Given the description of an element on the screen output the (x, y) to click on. 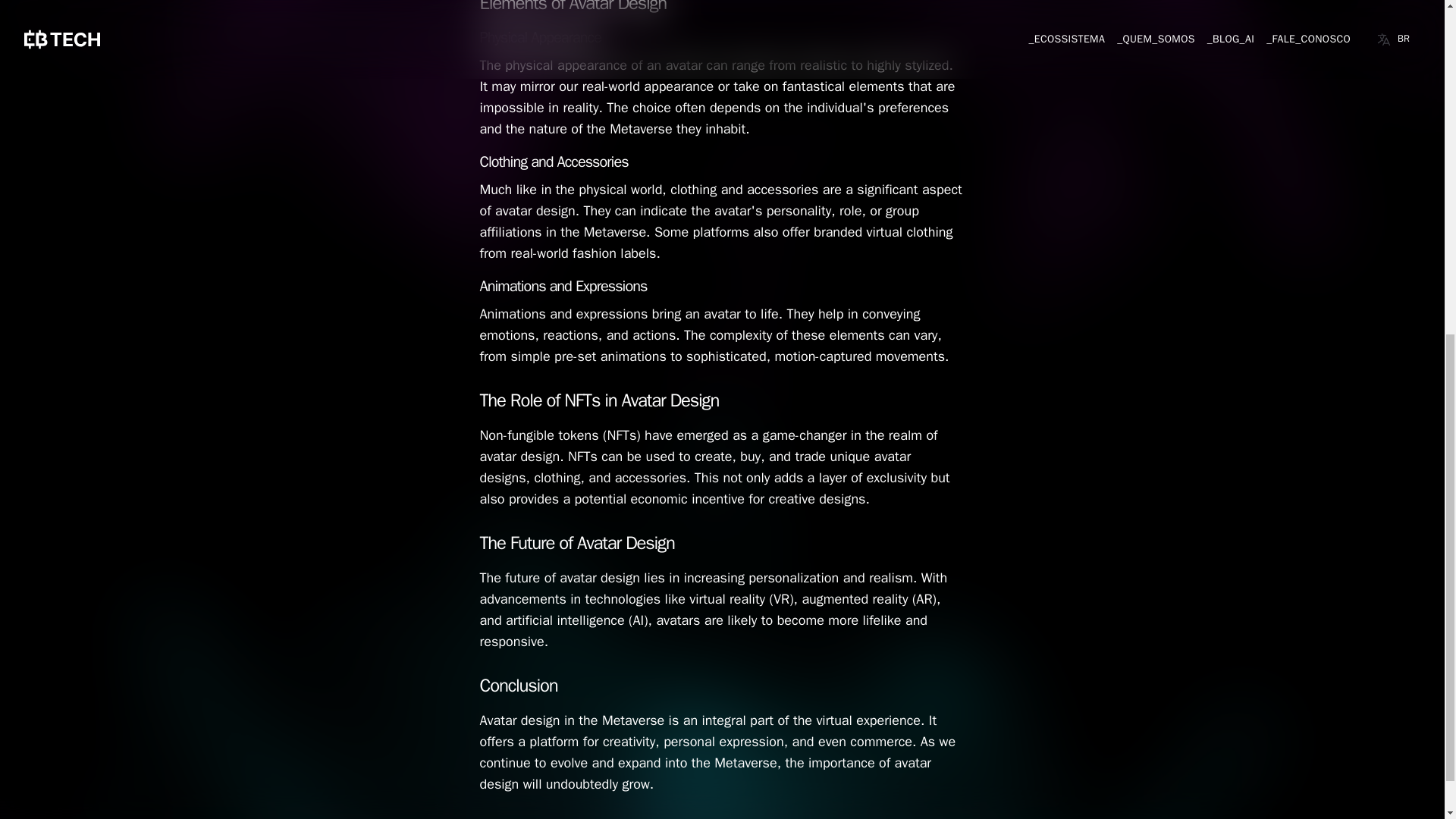
Conclusion (518, 685)
Elements of Avatar Design (572, 7)
The Future of Avatar Design (576, 542)
Clothing and Accessories (553, 161)
Physical Appearance (539, 36)
The Role of NFTs in Avatar Design (599, 400)
Animations and Expressions (562, 285)
